Given the description of an element on the screen output the (x, y) to click on. 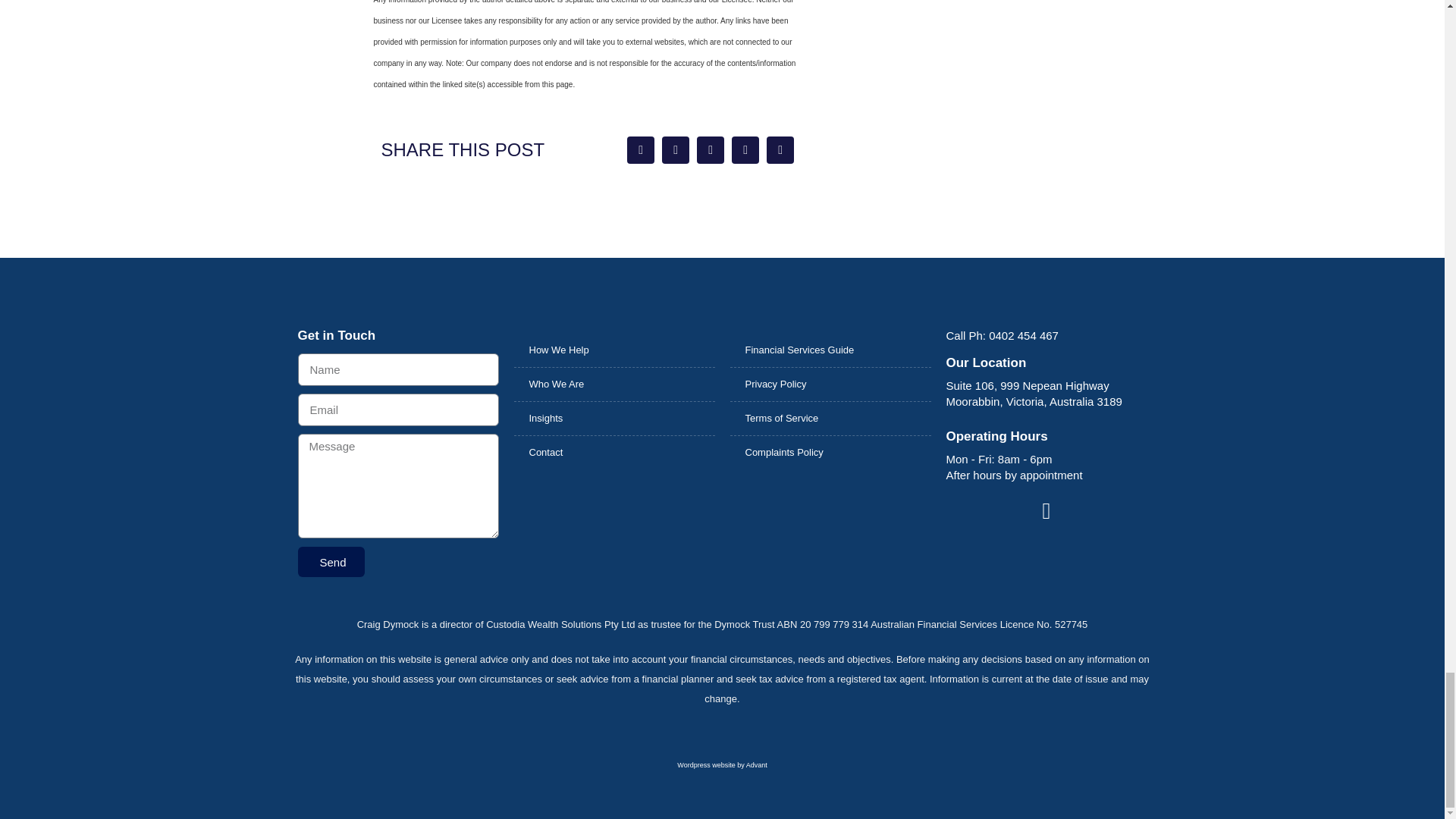
How We Help (613, 349)
Send (330, 562)
Who We Are (613, 384)
